Given the description of an element on the screen output the (x, y) to click on. 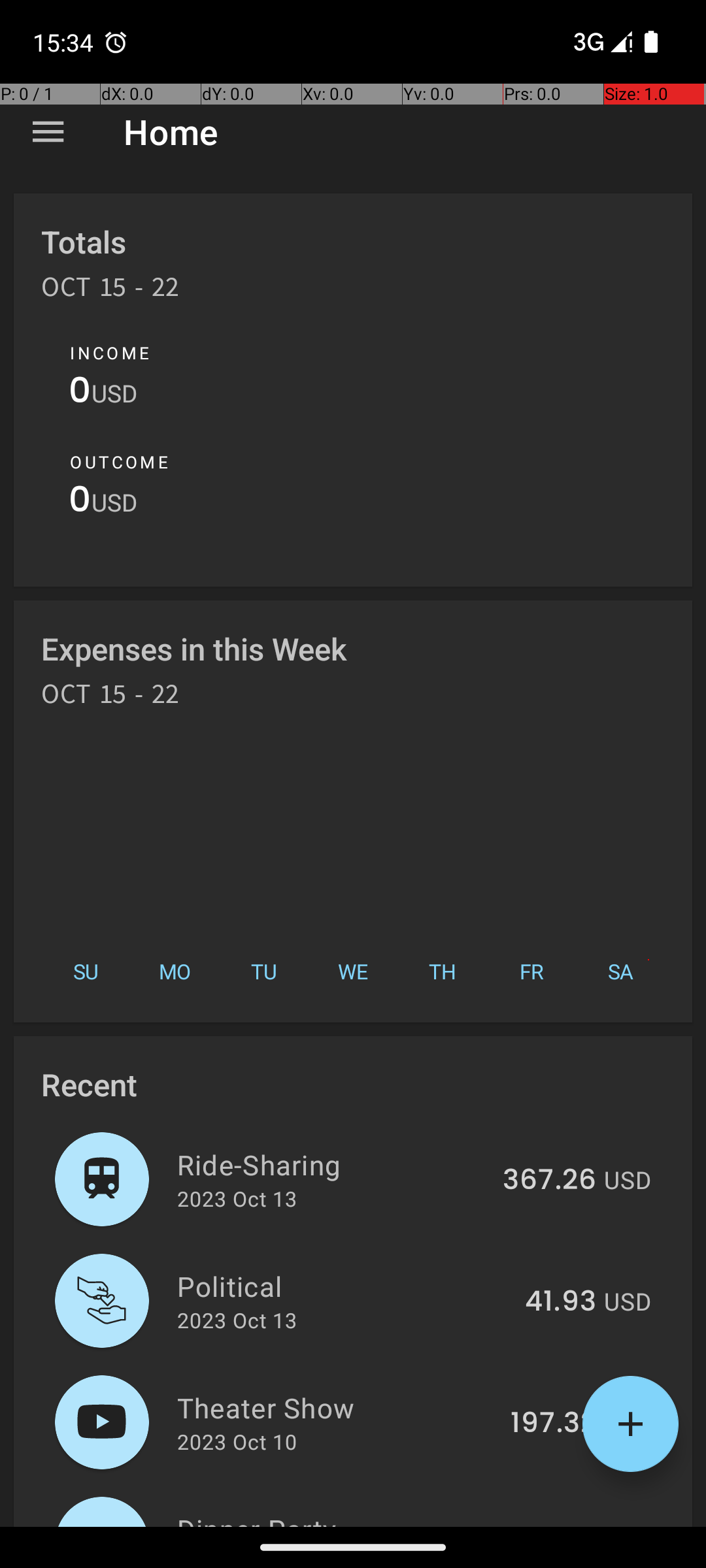
367.26 Element type: android.widget.TextView (549, 1180)
41.93 Element type: android.widget.TextView (560, 1301)
Theater Show Element type: android.widget.TextView (336, 1407)
197.32 Element type: android.widget.TextView (552, 1423)
499.74 Element type: android.widget.TextView (547, 1524)
